Given the description of an element on the screen output the (x, y) to click on. 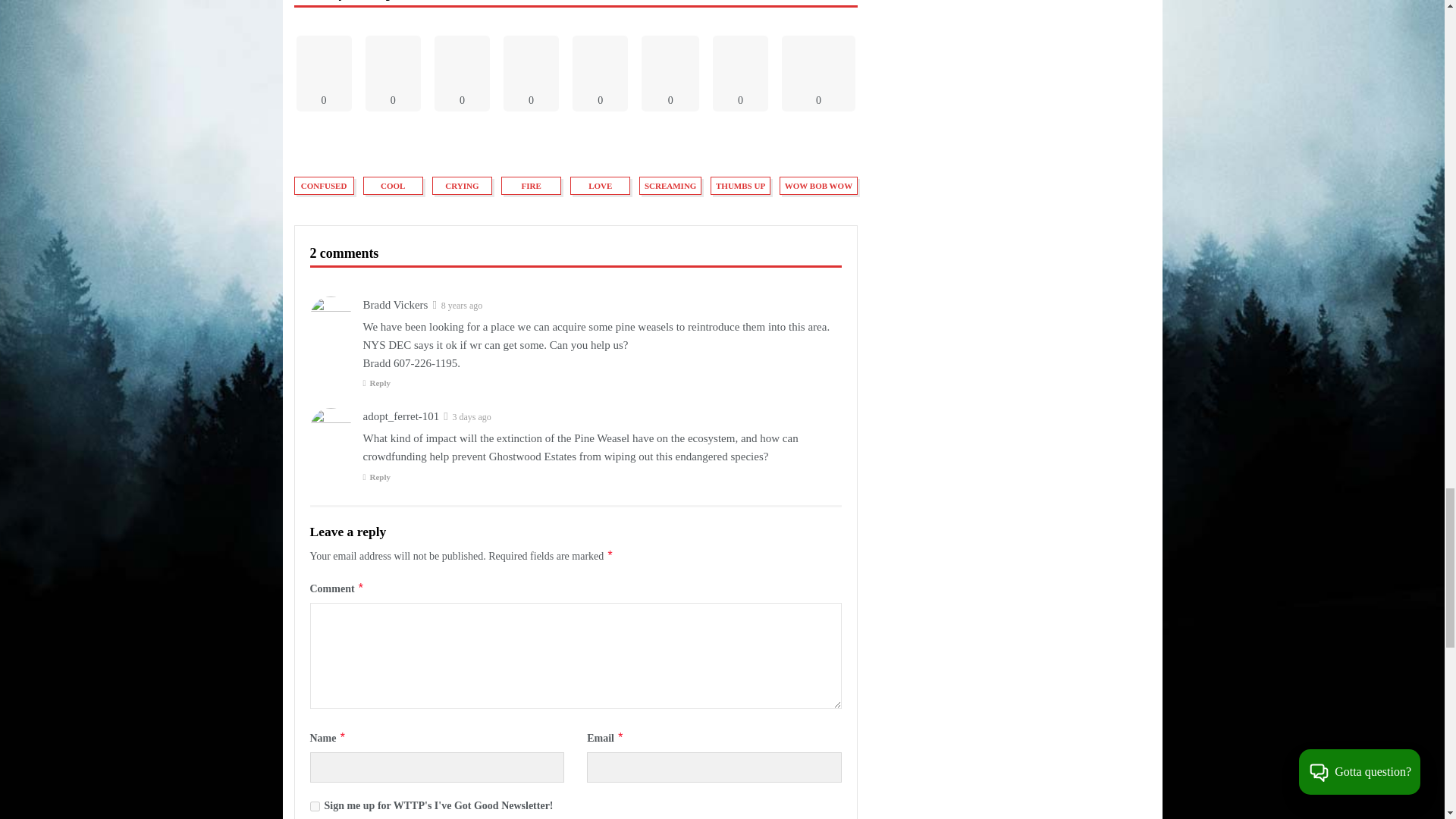
1 (313, 806)
